Given the description of an element on the screen output the (x, y) to click on. 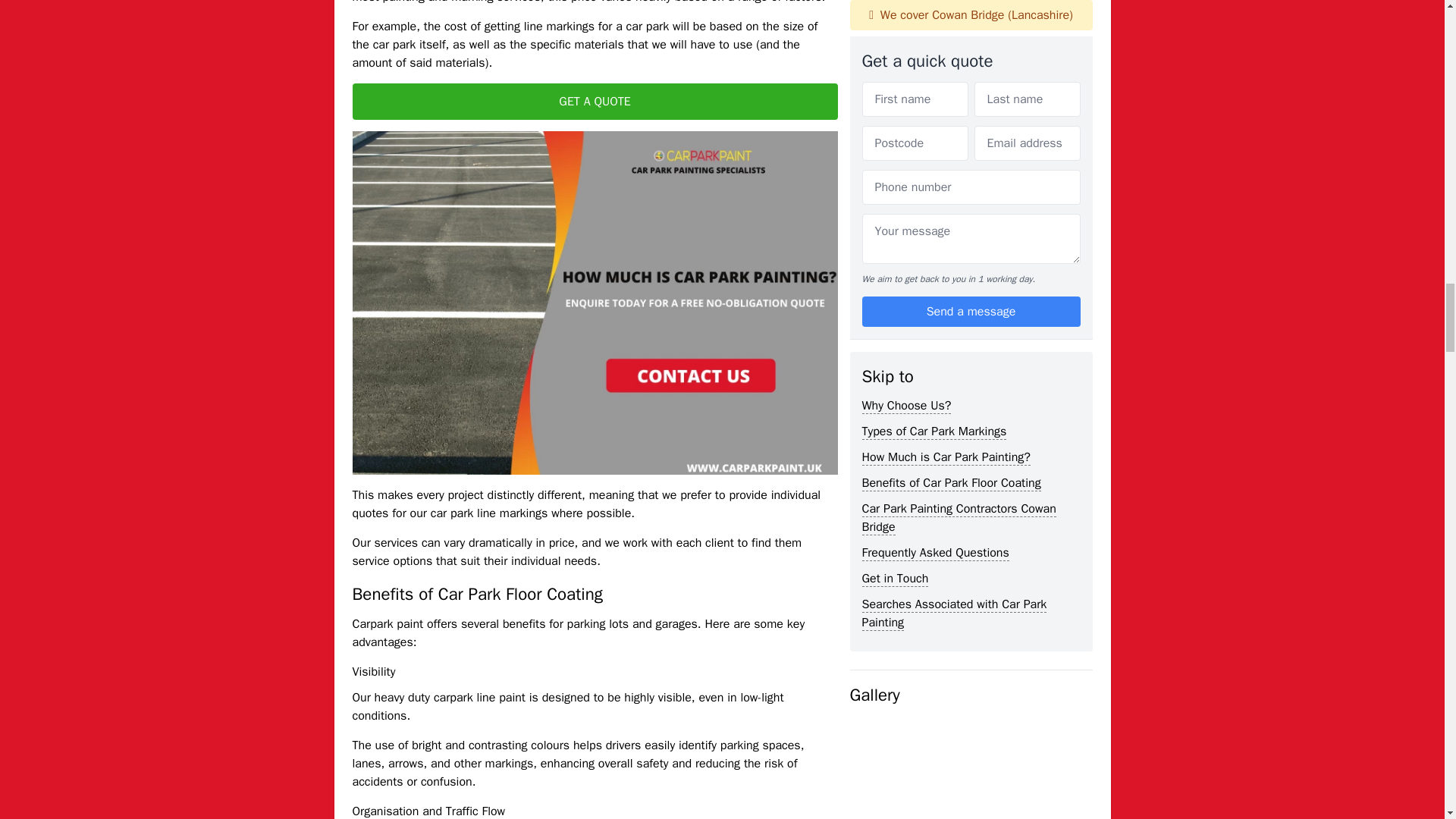
GET A QUOTE (594, 101)
